Given the description of an element on the screen output the (x, y) to click on. 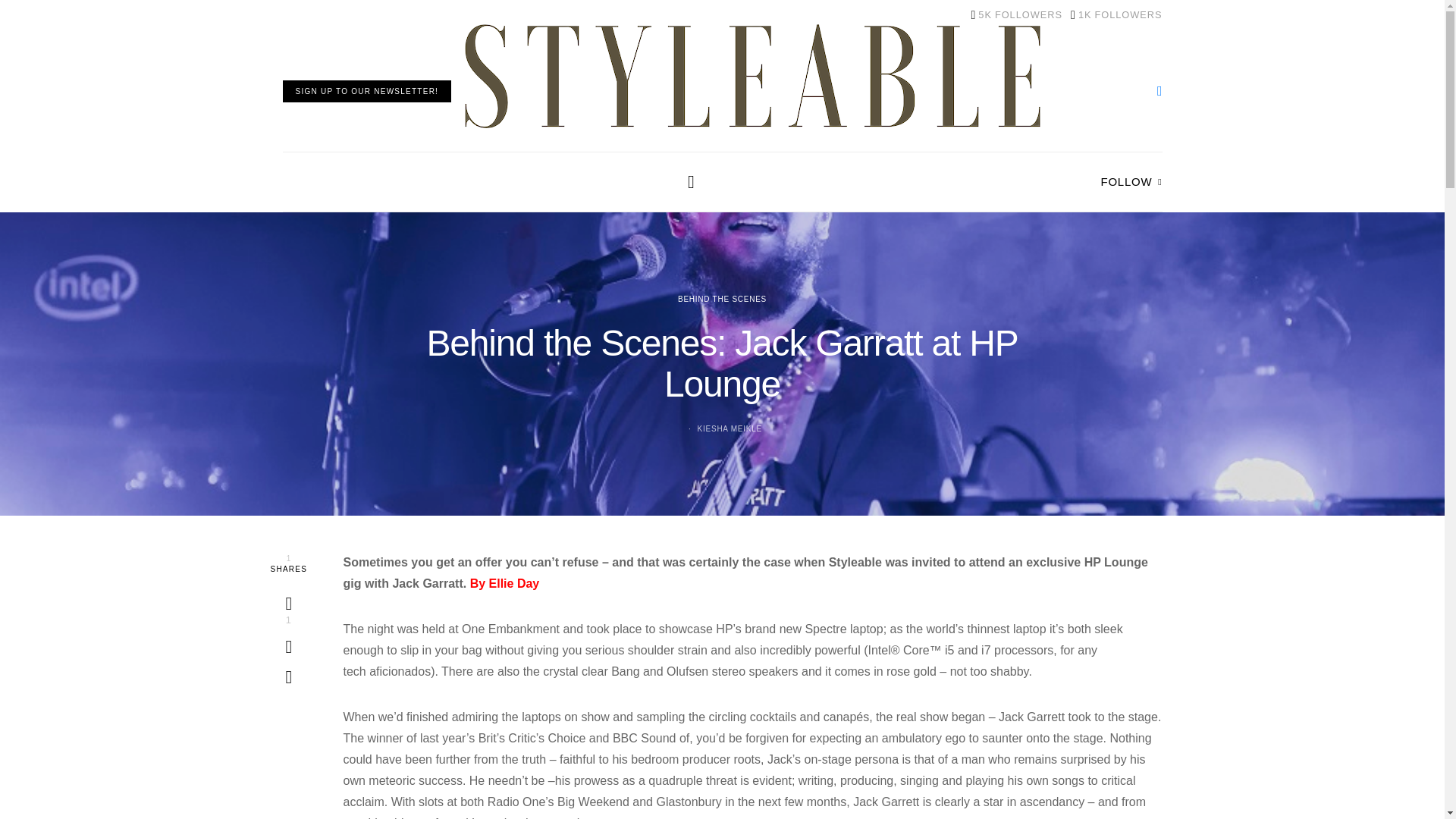
SIGN UP TO OUR NEWSLETTER! (1016, 15)
View all posts by Kiesha Meikle (1115, 15)
